Given the description of an element on the screen output the (x, y) to click on. 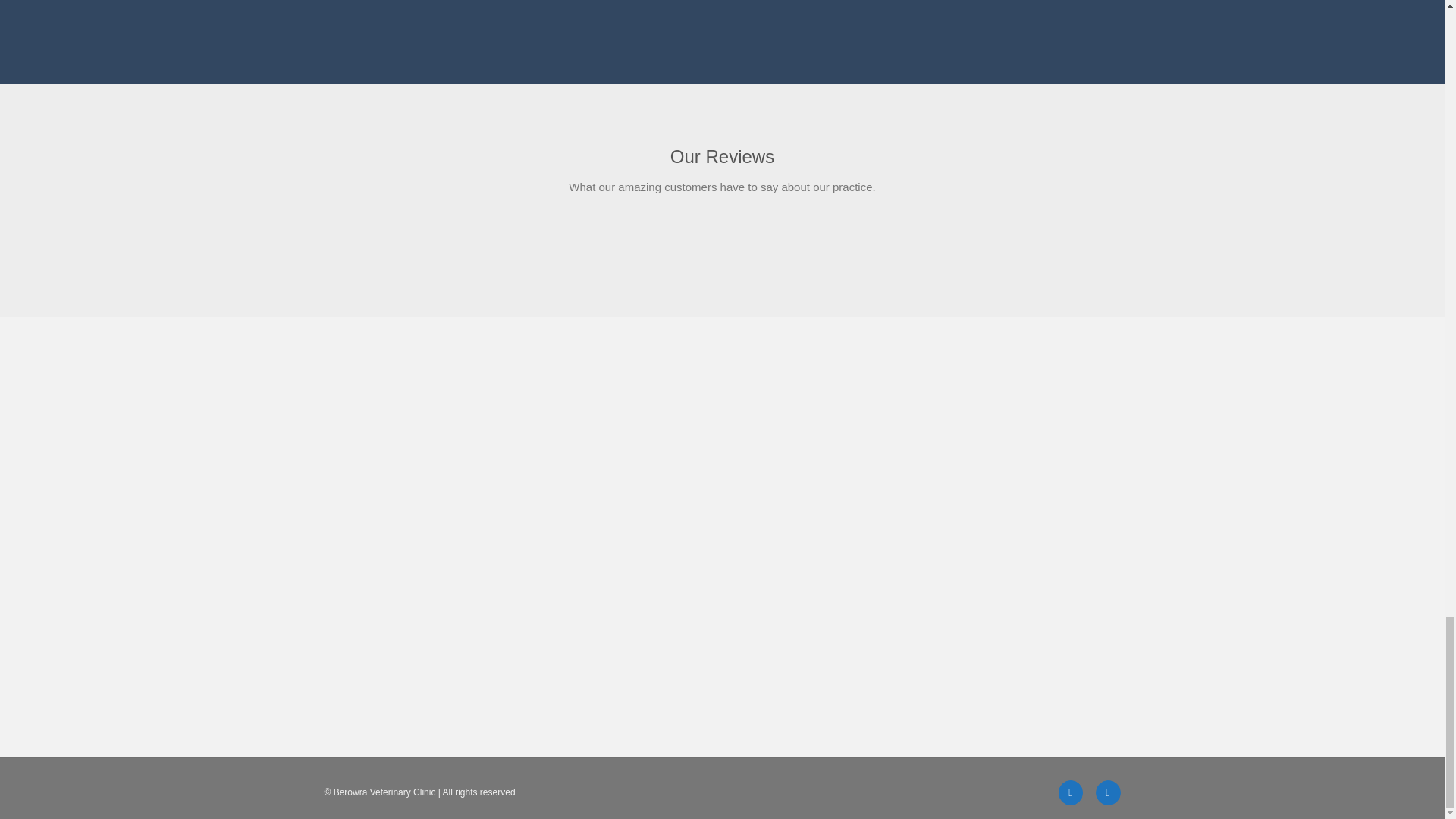
Follow on Facebook (1070, 792)
Follow on Instagram (1108, 792)
